Given the description of an element on the screen output the (x, y) to click on. 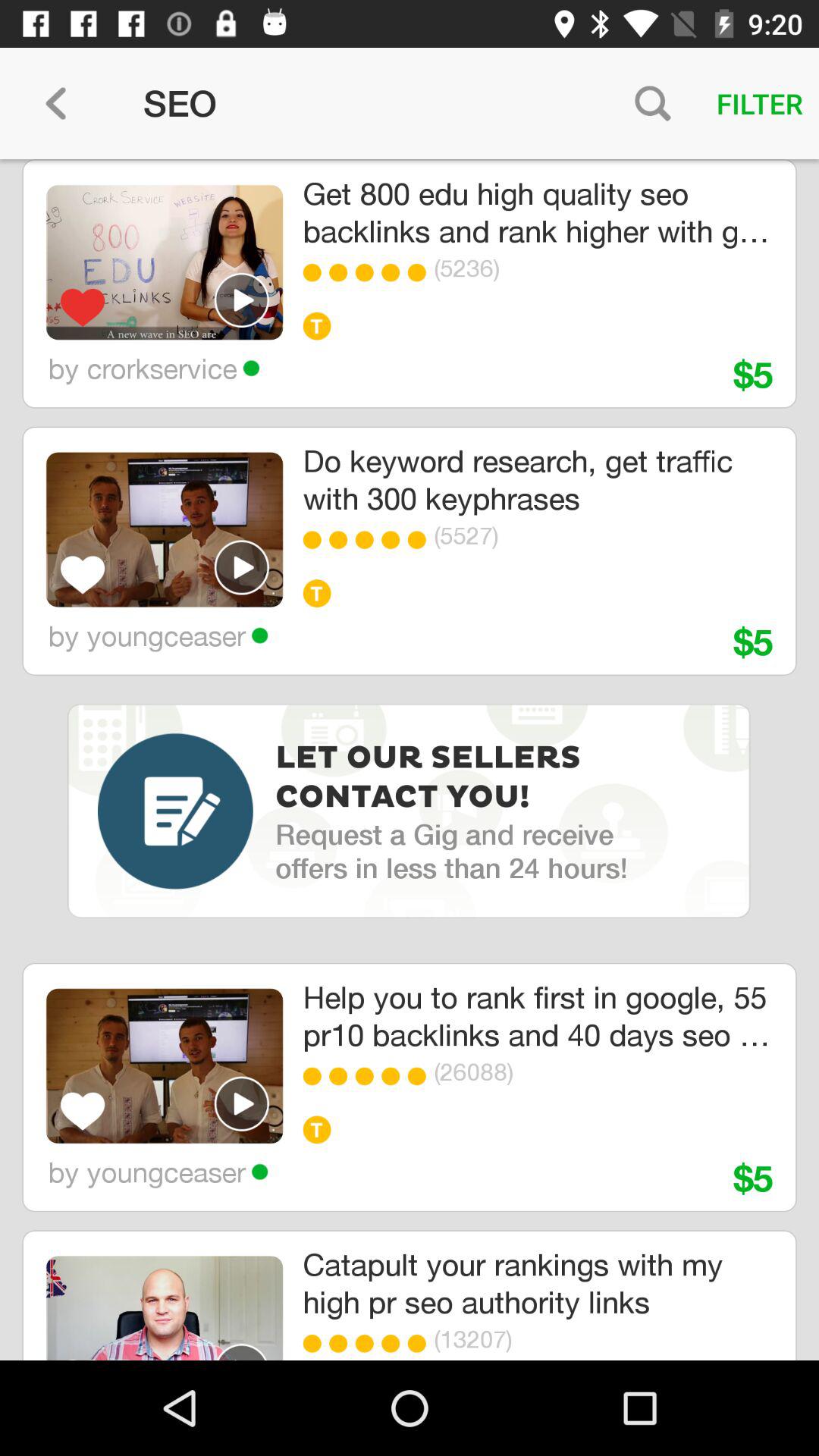
play this video (242, 1351)
